Given the description of an element on the screen output the (x, y) to click on. 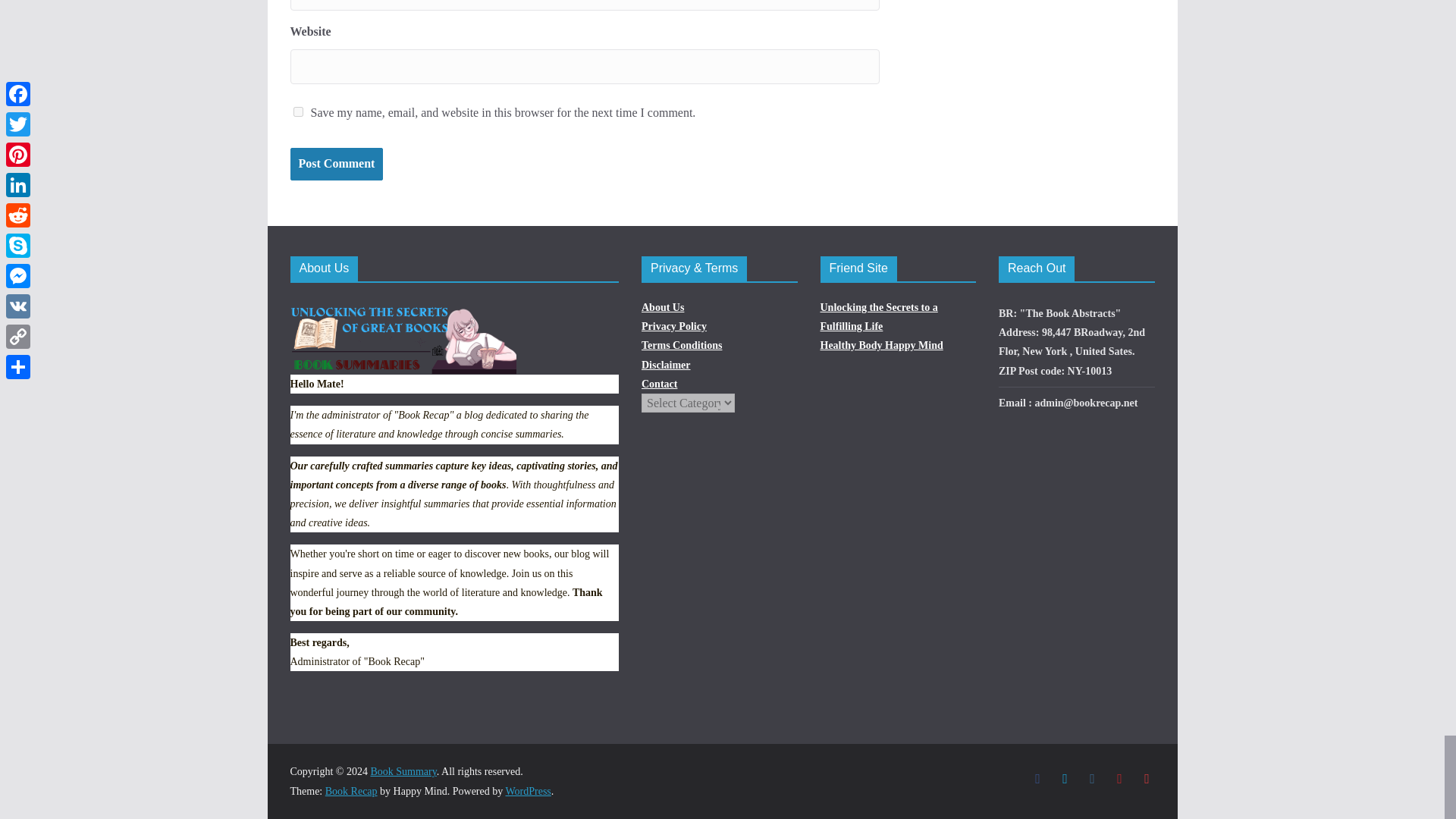
Post Comment (335, 164)
yes (297, 112)
